Given the description of an element on the screen output the (x, y) to click on. 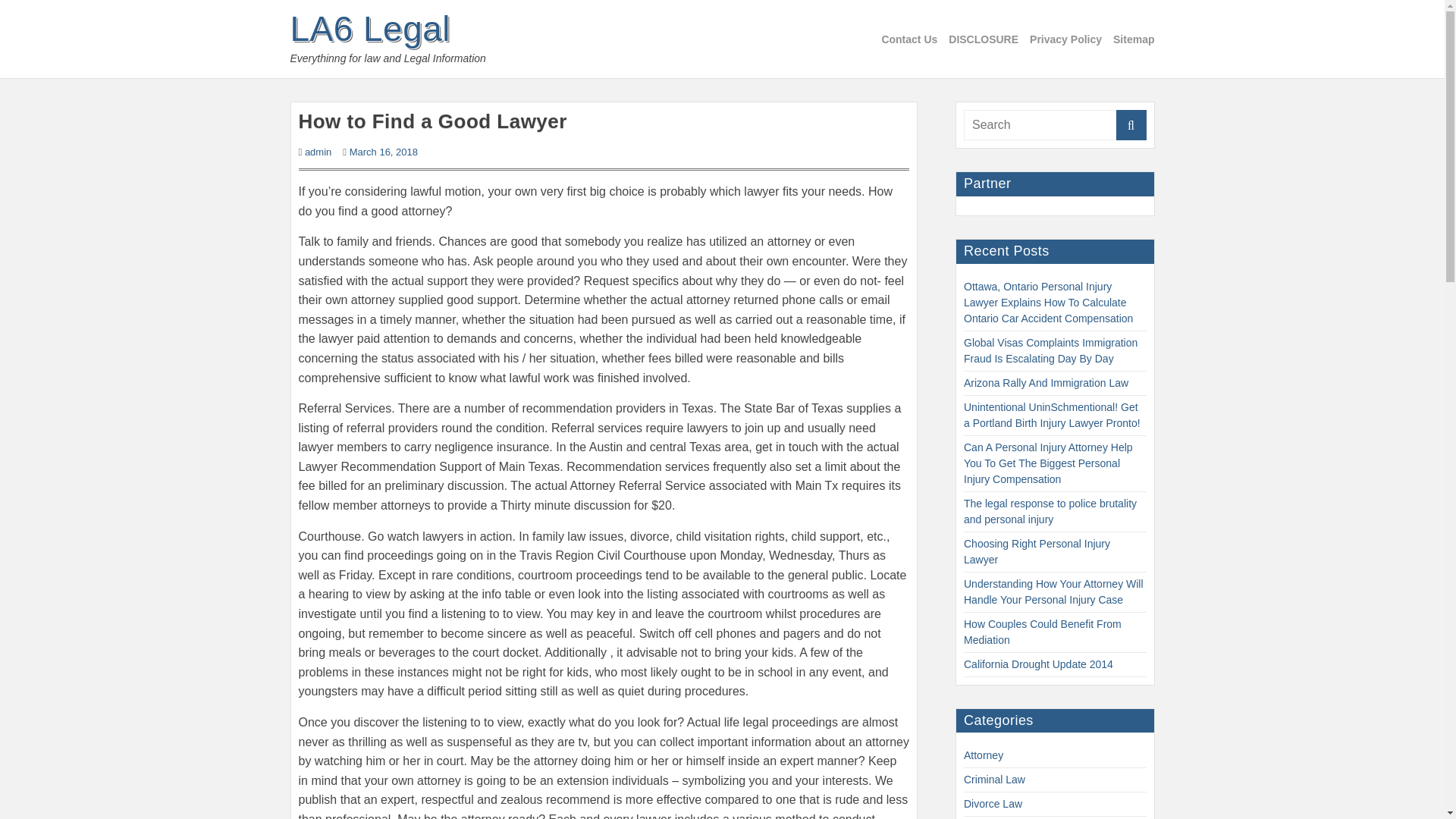
The legal response to police brutality and personal injury (1050, 511)
California Drought Update 2014 (1038, 664)
How Couples Could Benefit From Mediation (1042, 632)
Sitemap (1133, 38)
Arizona Rally And Immigration Law (1045, 382)
DISCLOSURE (983, 38)
Criminal Law (994, 779)
admin (317, 152)
March 16, 2018 (383, 152)
Choosing Right Personal Injury Lawyer (1036, 551)
Contact Us (908, 38)
